Given the description of an element on the screen output the (x, y) to click on. 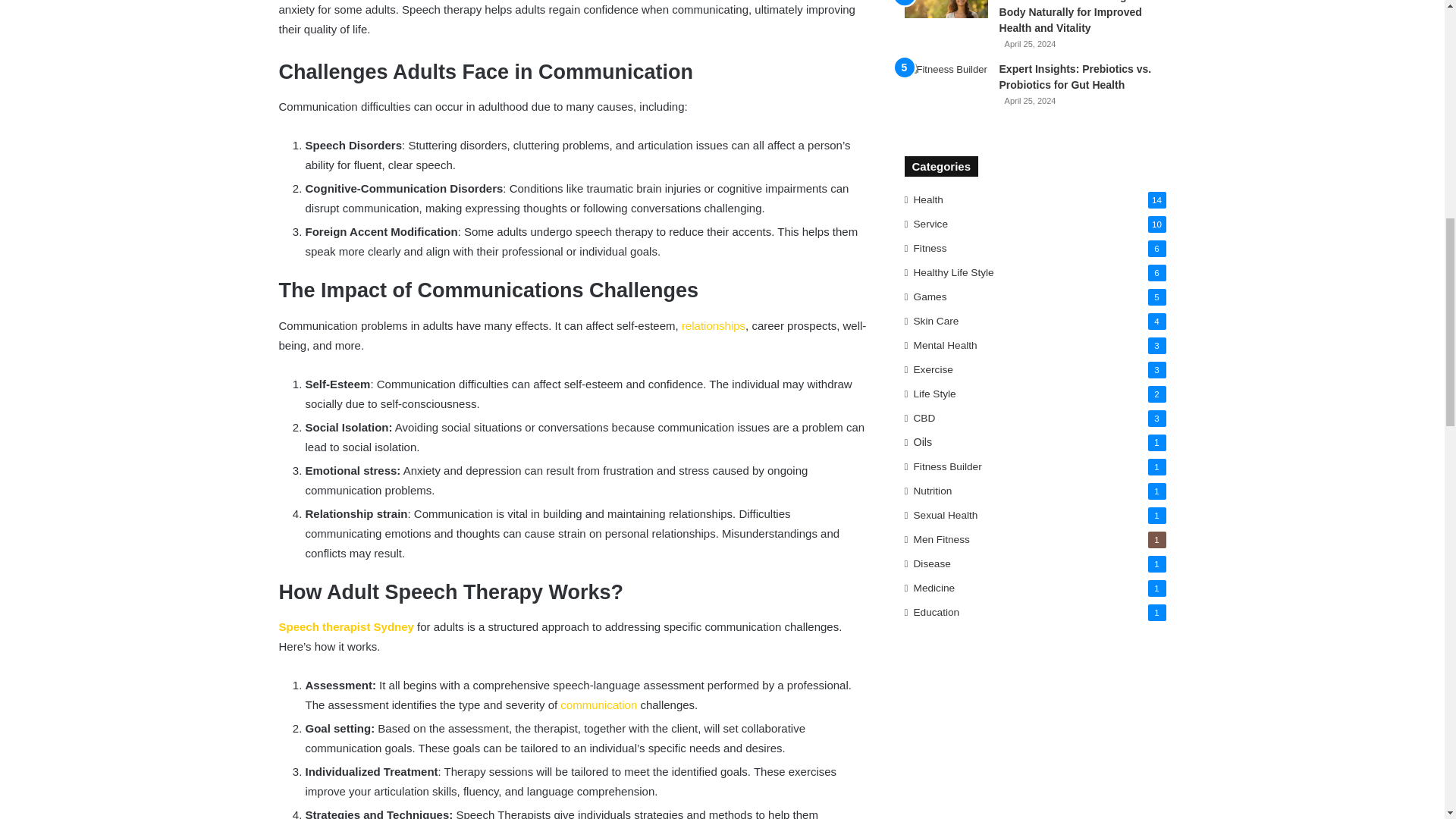
relationships (713, 325)
Speech therapist Sydney (346, 626)
communication (598, 704)
